Given the description of an element on the screen output the (x, y) to click on. 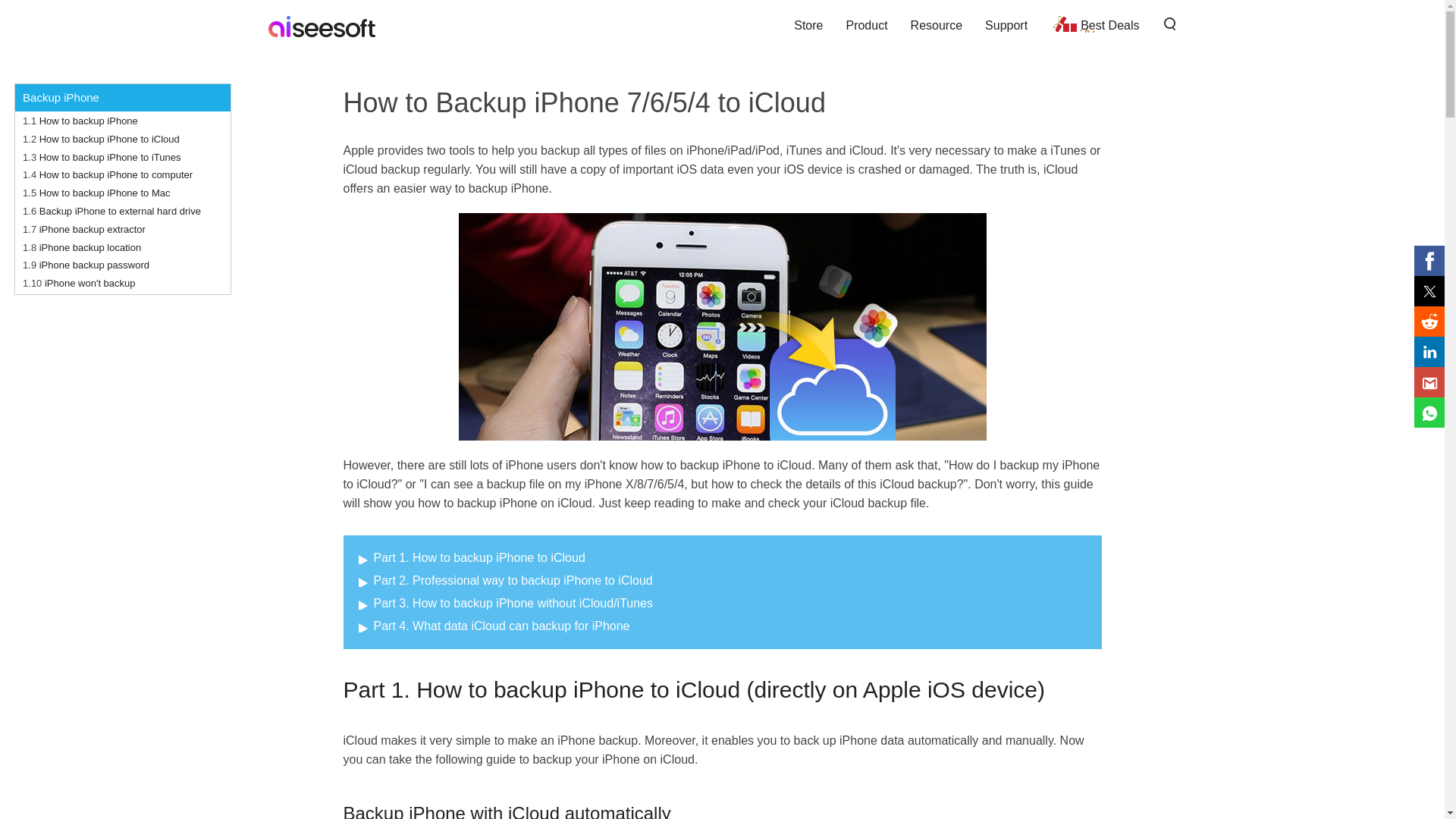
Part 4. What data iCloud can backup for iPhone (493, 625)
How to backup iPhone to computer (115, 174)
Product (865, 24)
iPhone backup password (94, 265)
Part 2. Professional way to backup iPhone to iCloud (505, 580)
How to backup iPhone to Mac (104, 193)
iPhone backup extractor (92, 229)
How to backup iPhone (88, 120)
Part 1. How to backup iPhone to iCloud (471, 557)
Support (1006, 24)
How to backup iPhone to iTunes (109, 156)
Best Deals (1093, 25)
Store (807, 24)
Resource (936, 24)
iPhone backup location (90, 247)
